Given the description of an element on the screen output the (x, y) to click on. 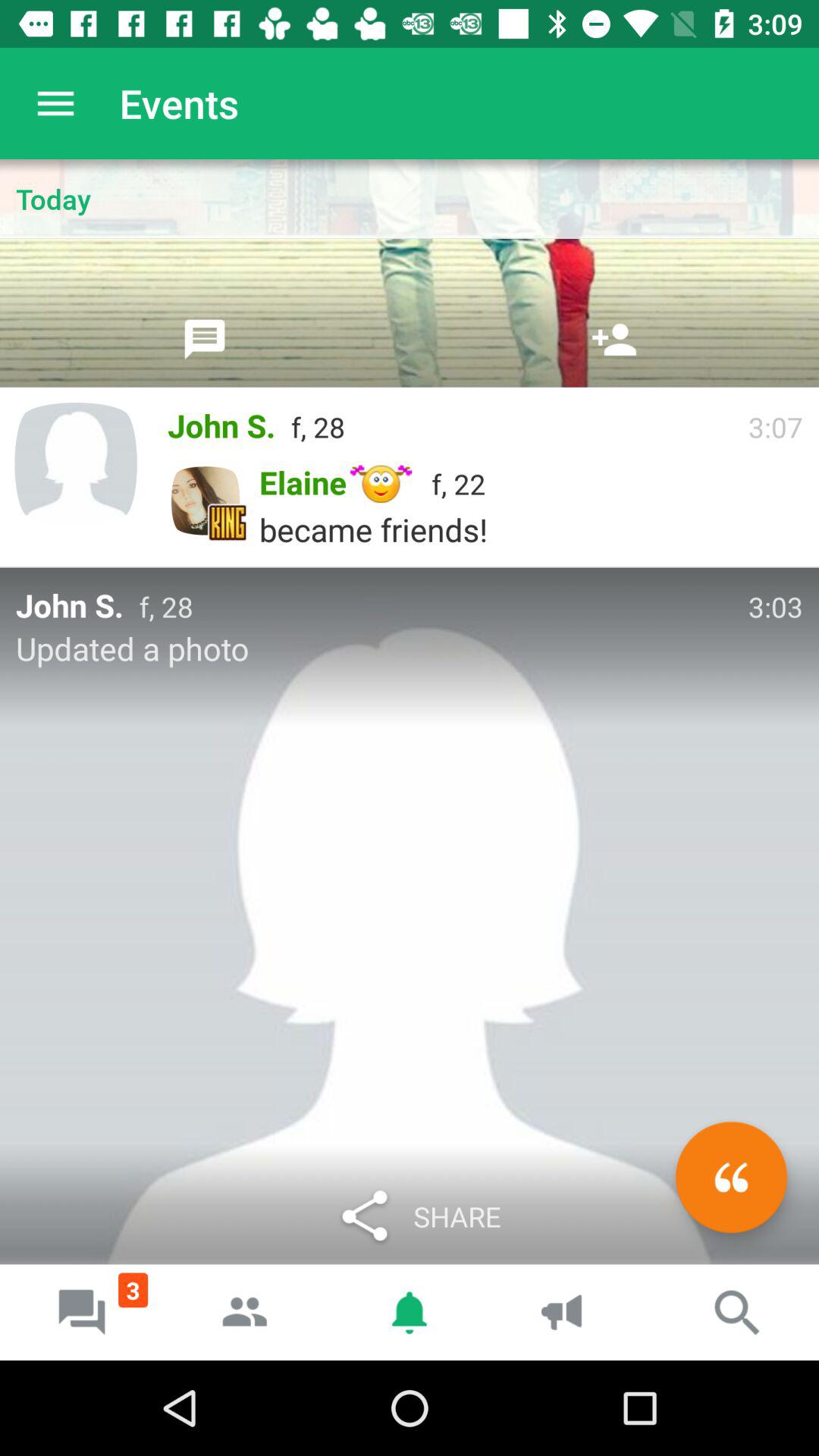
launch the icon next to the share item (731, 1177)
